Given the description of an element on the screen output the (x, y) to click on. 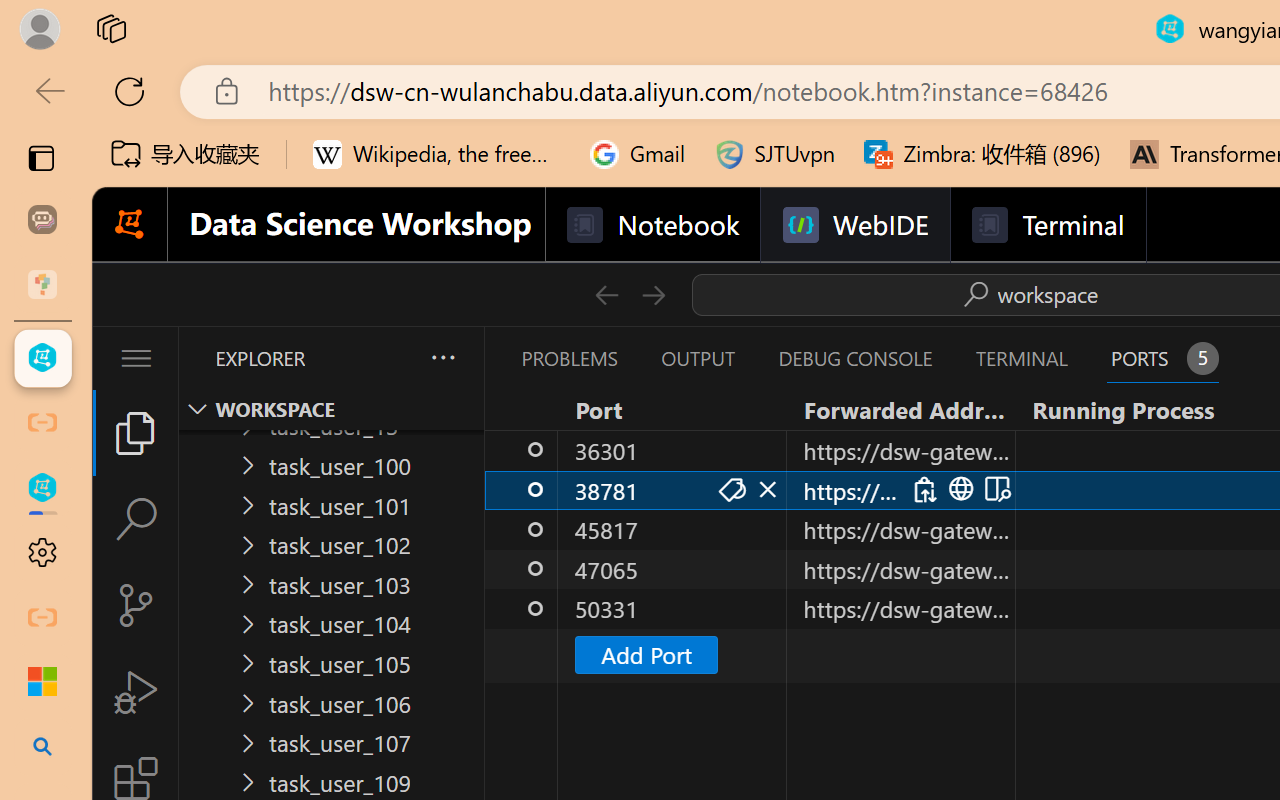
WebIDE (854, 225)
Application Menu (135, 358)
Source Control (Ctrl+Shift+G) (135, 604)
Go Back (Alt+LeftArrow) (605, 294)
Terminal (1046, 225)
Stop Forwarding Port (Delete) (766, 489)
Views and More Actions... (442, 357)
Class: menubar compact overflow-menu-only (135, 358)
Ports - 5 forwarded ports Ports - 5 forwarded ports (1162, 358)
